Given the description of an element on the screen output the (x, y) to click on. 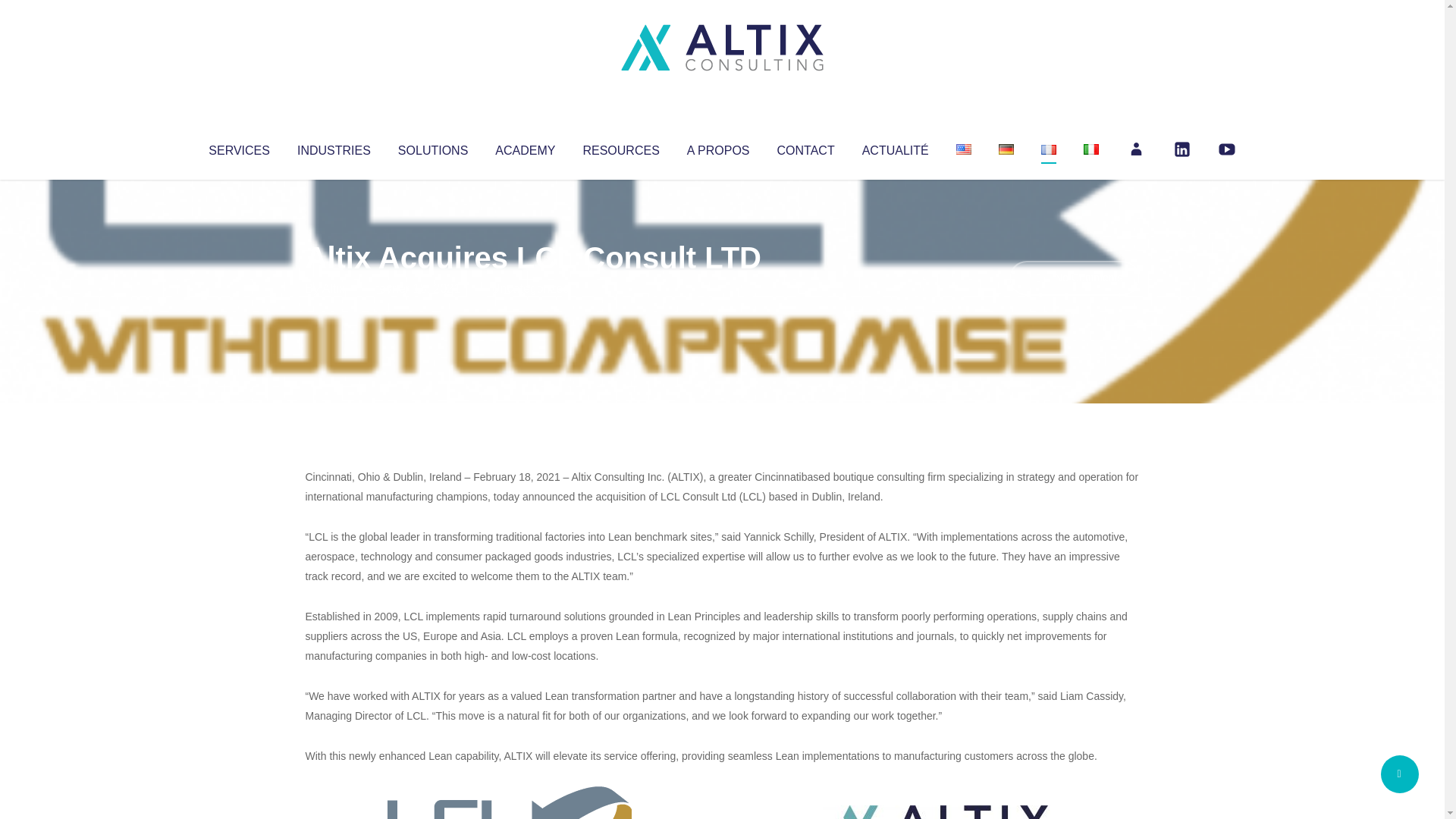
Altix (333, 287)
INDUSTRIES (334, 146)
RESOURCES (620, 146)
Uncategorized (530, 287)
A PROPOS (718, 146)
SERVICES (238, 146)
Articles par Altix (333, 287)
ACADEMY (524, 146)
No Comments (1073, 278)
SOLUTIONS (432, 146)
